Given the description of an element on the screen output the (x, y) to click on. 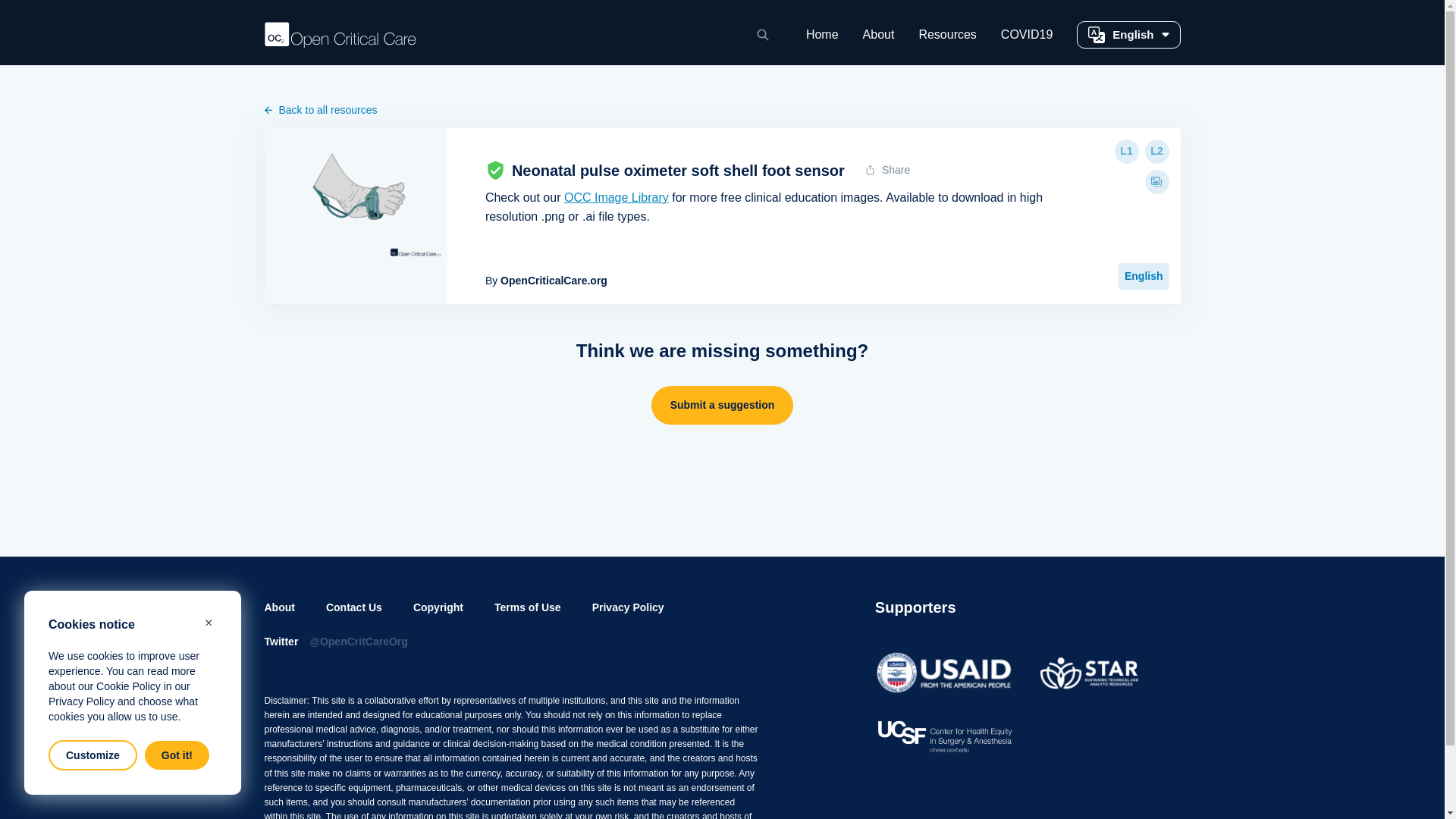
Resources (946, 41)
Back to all resources (721, 109)
About (879, 41)
COVID19 (1026, 41)
By OpenCriticalCare.org (545, 280)
OCC Image Library (616, 196)
Neonatal pulse oximeter soft shell foot sensor (678, 170)
Home (822, 41)
Neonatal pulse oximeter soft shell foot sensor (678, 170)
English (1128, 34)
Share (888, 169)
Resources (946, 41)
About (879, 41)
Neonatal pulse oximeter soft shell foot sensor (354, 197)
COVID19 (1026, 41)
